Given the description of an element on the screen output the (x, y) to click on. 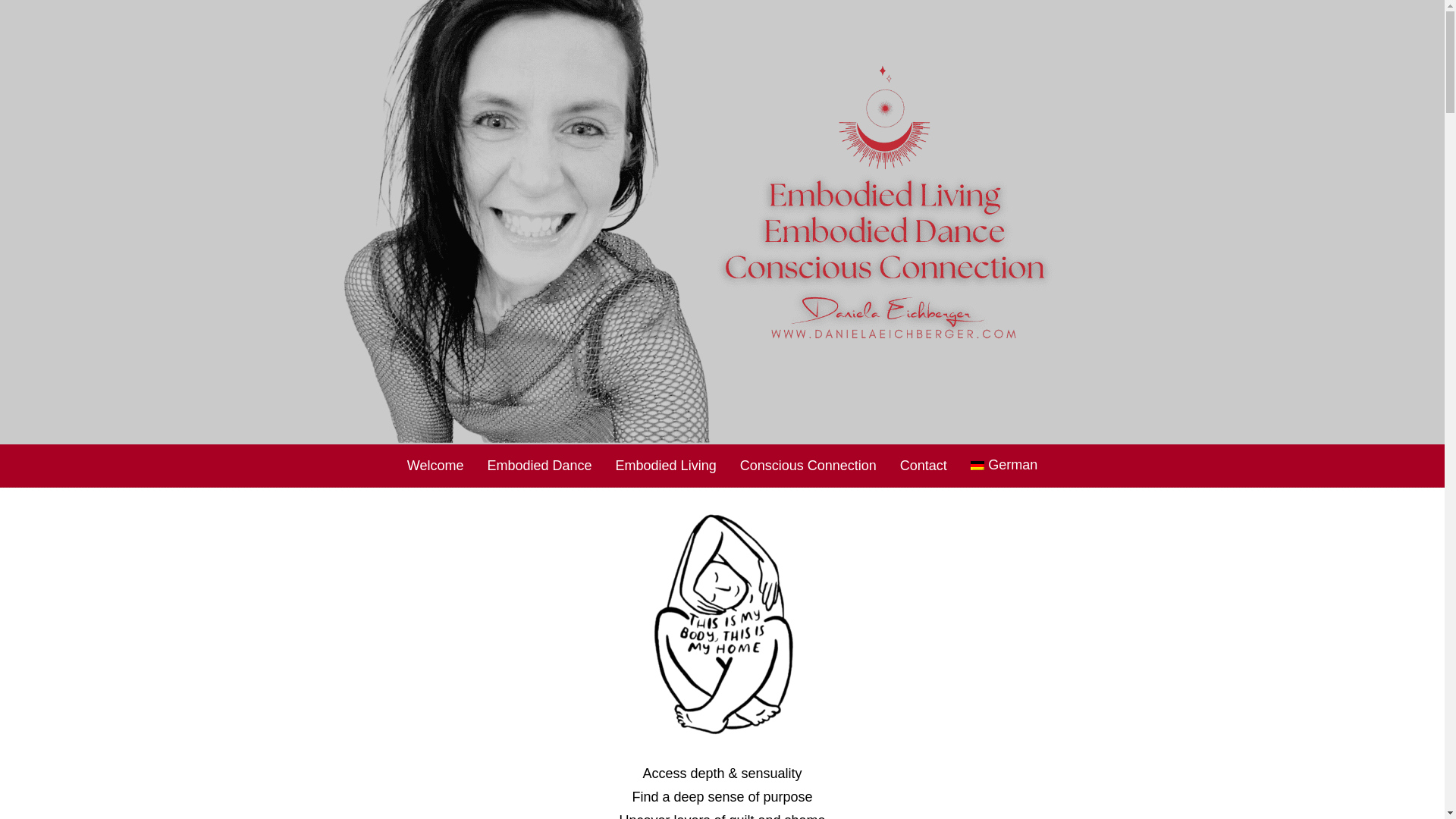
Embodied Living (665, 465)
German (1003, 465)
German (1003, 465)
Embodied Dance (538, 465)
Conscious Connection (807, 465)
Contact (923, 465)
Welcome (435, 465)
